Given the description of an element on the screen output the (x, y) to click on. 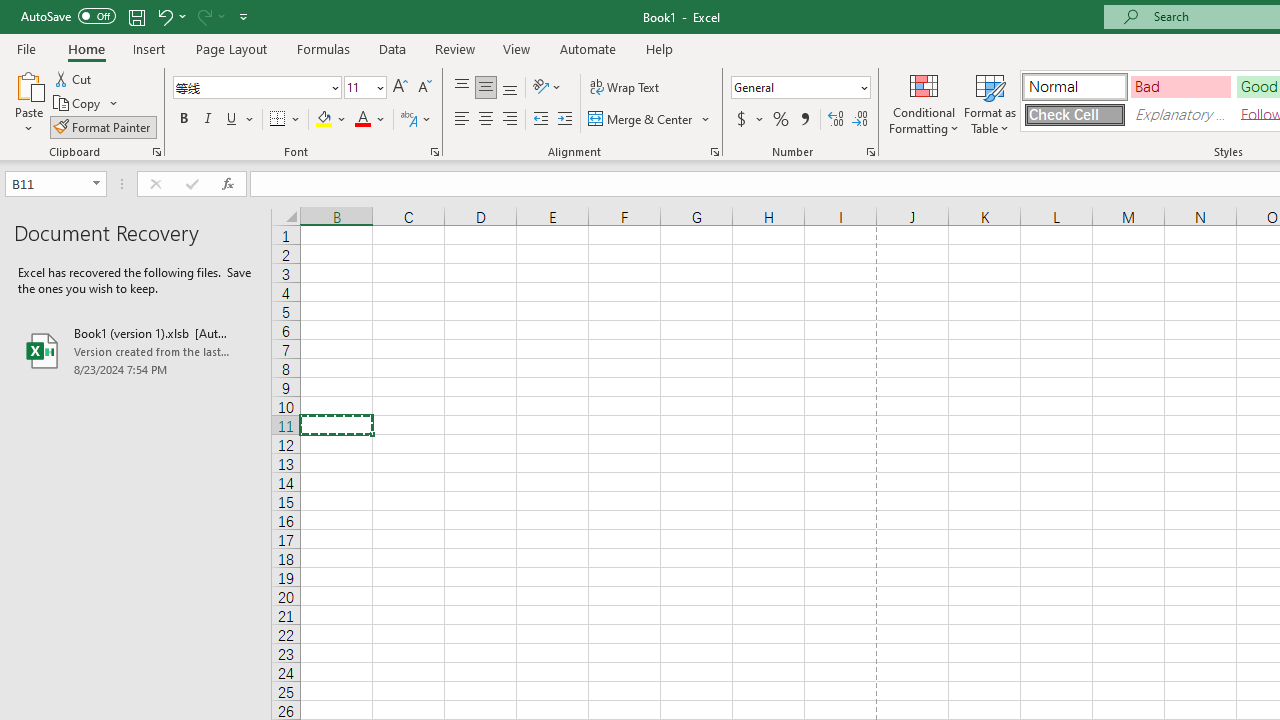
Paste (28, 102)
Bad (1180, 86)
Decrease Indent (540, 119)
Check Cell (1074, 114)
Decrease Decimal (859, 119)
Italic (207, 119)
Merge & Center (641, 119)
Format as Table (990, 102)
Merge & Center (649, 119)
